Given the description of an element on the screen output the (x, y) to click on. 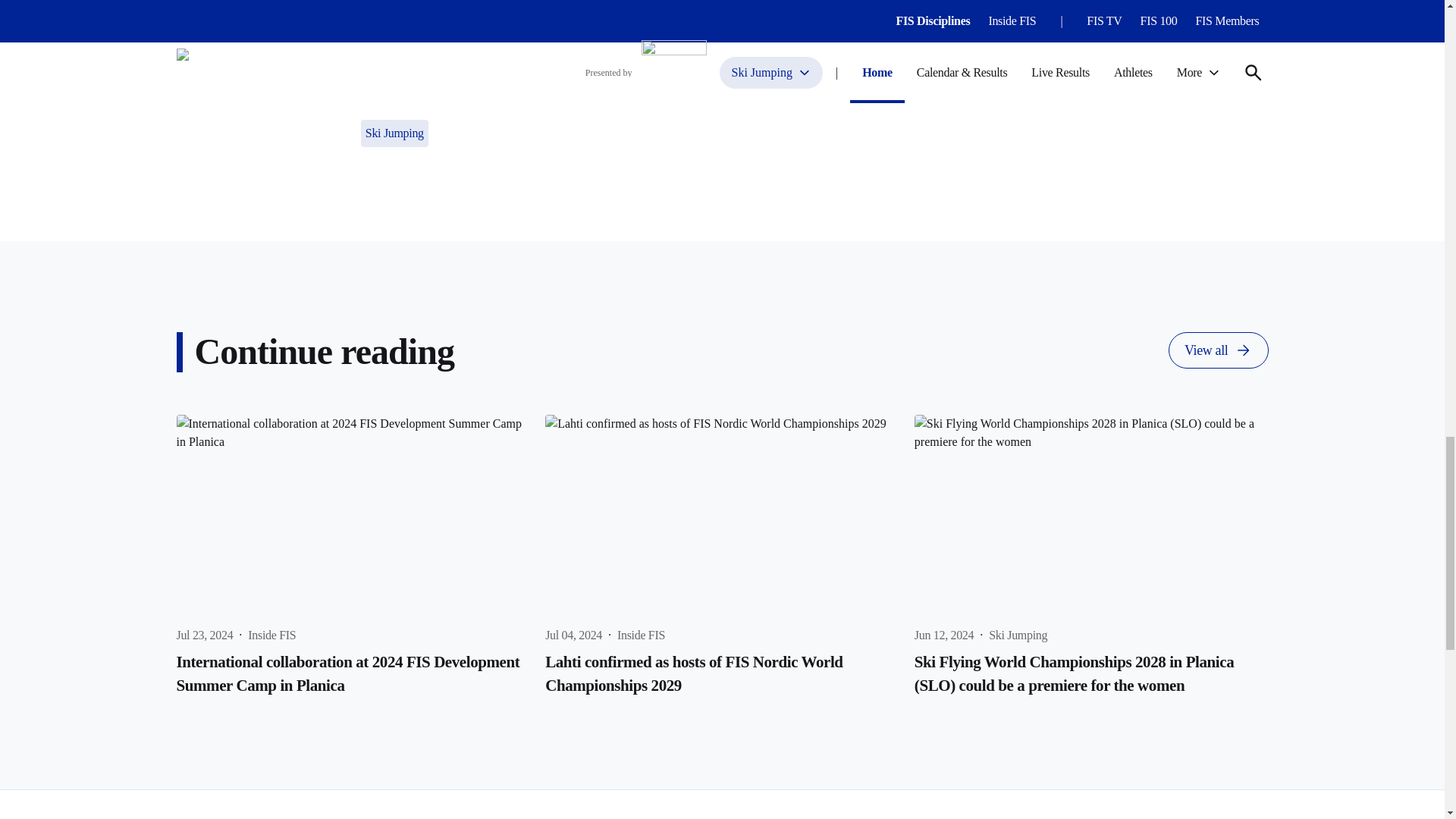
View all (1218, 350)
Ski Jumping (394, 132)
View all (1218, 350)
